Given the description of an element on the screen output the (x, y) to click on. 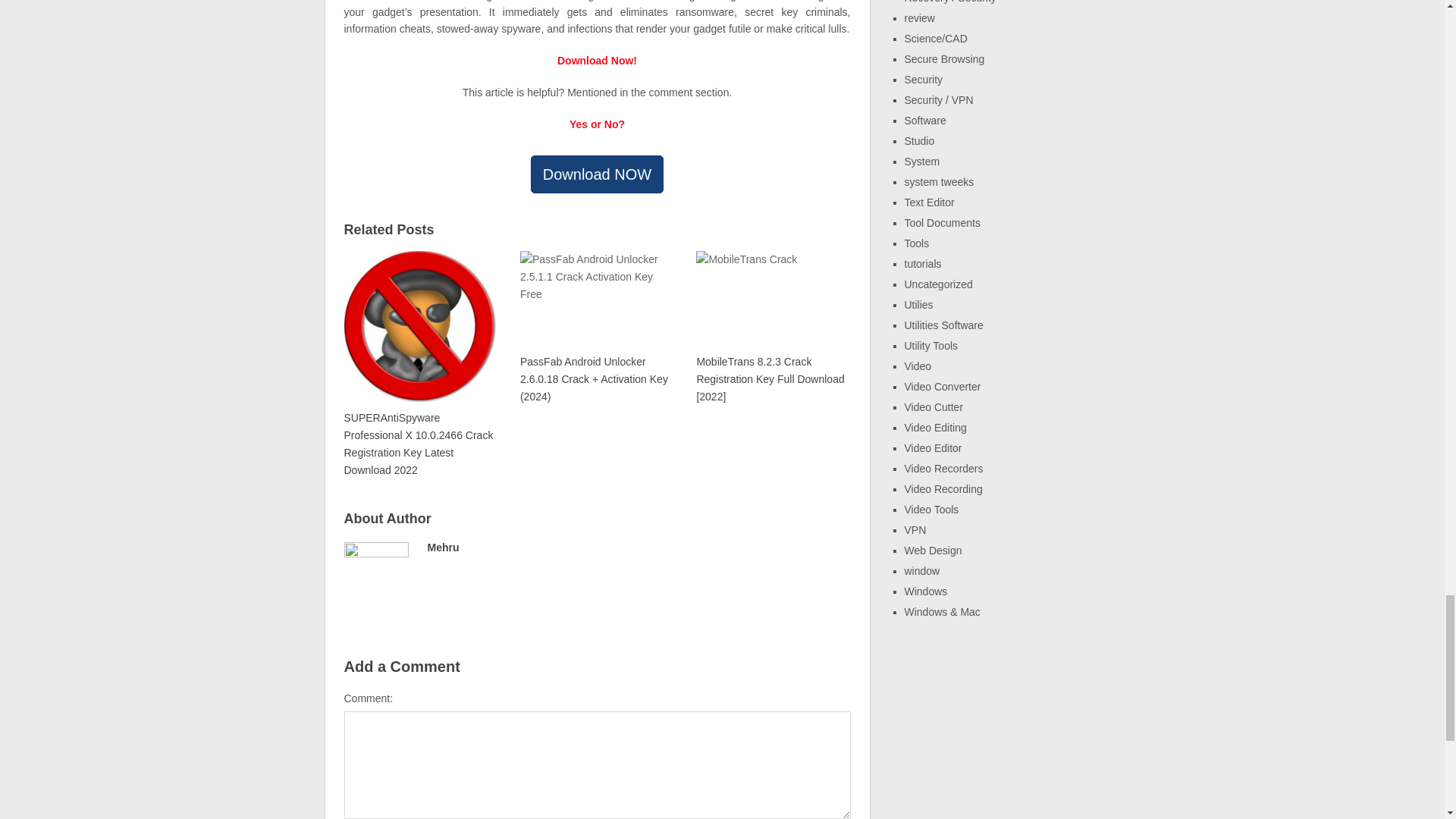
Yes or No? (596, 123)
Download Now! (597, 60)
Download NOW (597, 174)
